Given the description of an element on the screen output the (x, y) to click on. 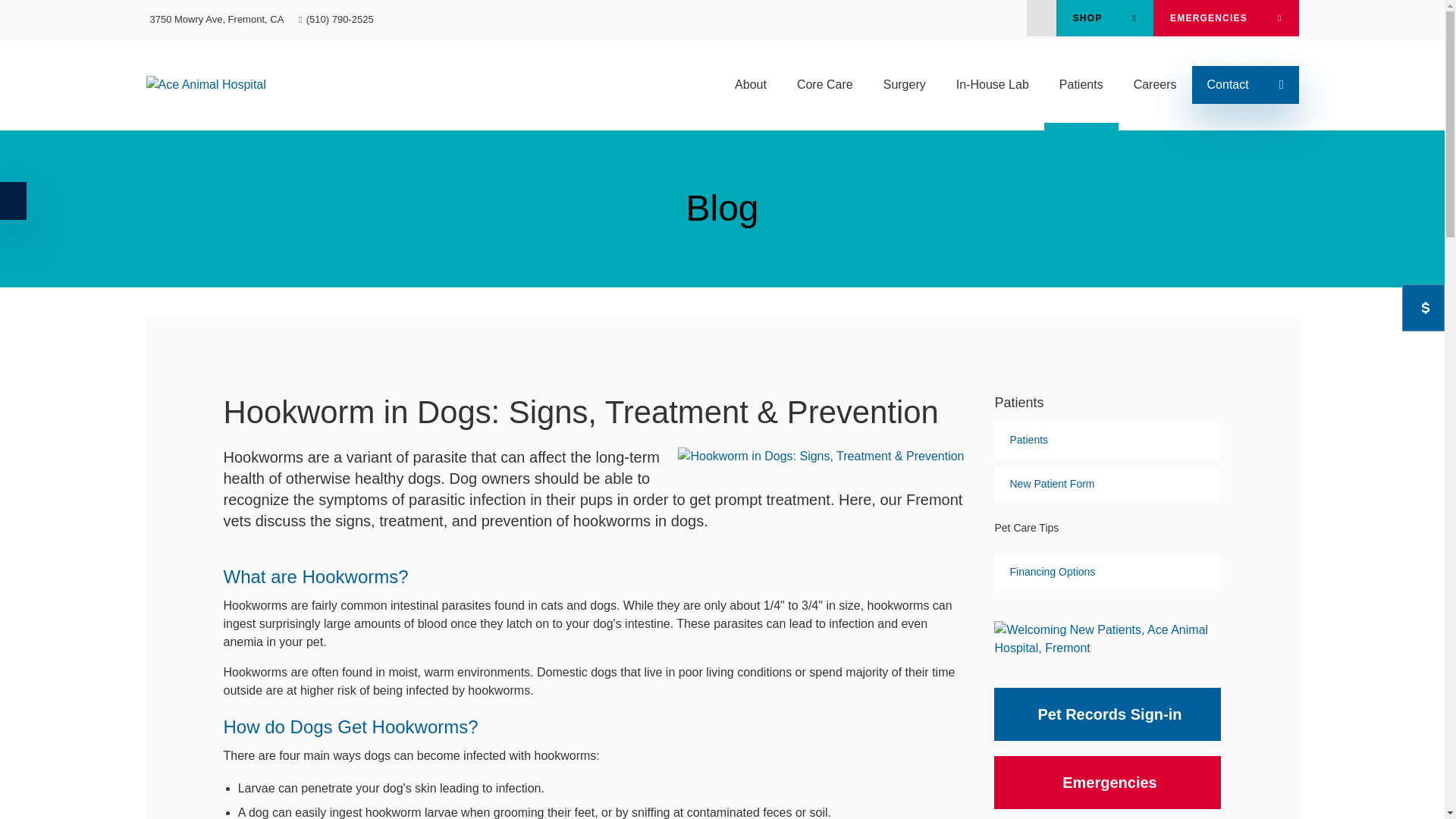
3750 Mowry Ave Fremont CA (216, 19)
EMERGENCIES (1225, 18)
SHOP (1105, 18)
Core Care (824, 84)
